Given the description of an element on the screen output the (x, y) to click on. 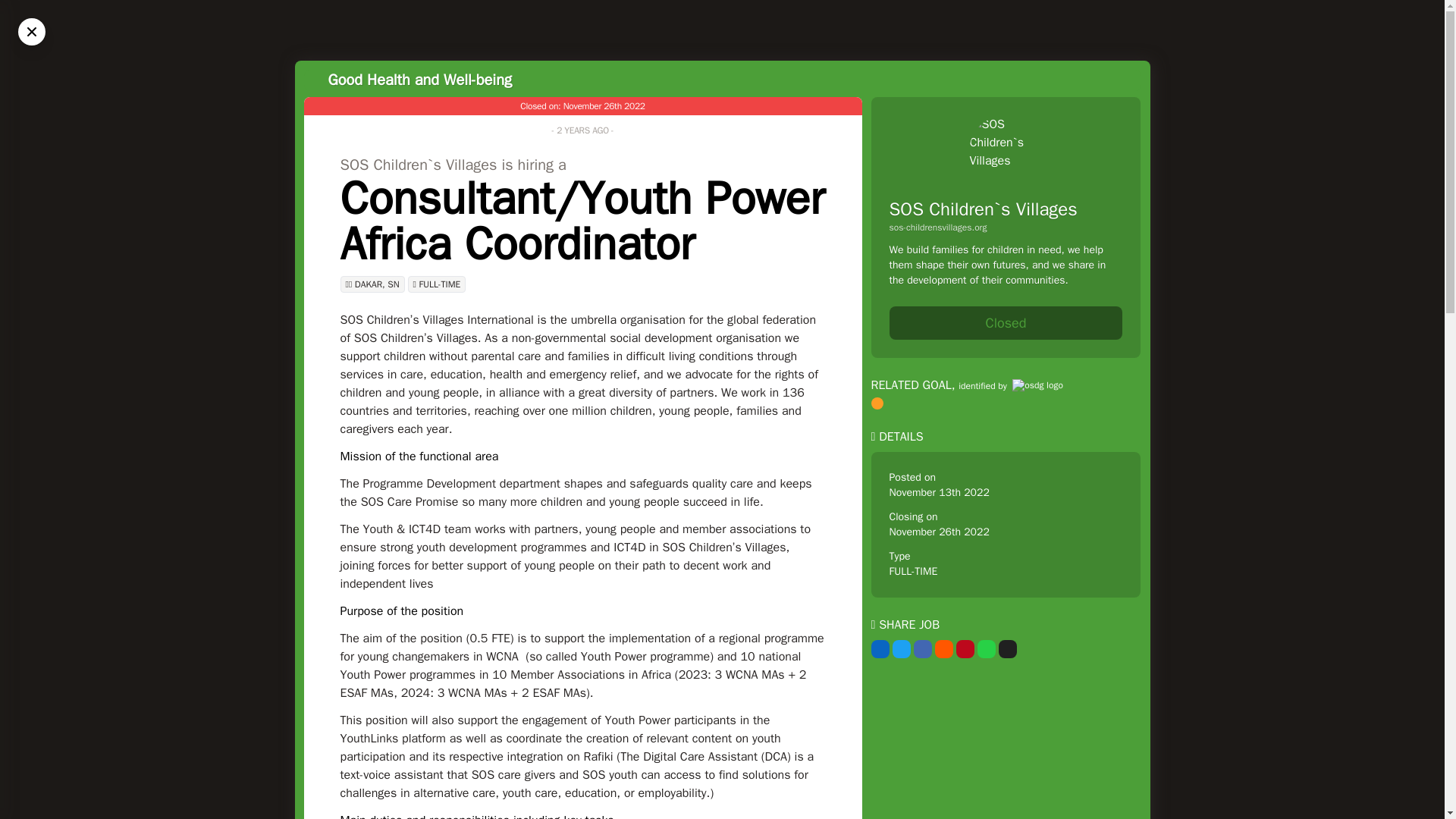
share with email (1006, 648)
share with whatsapp (985, 648)
share on linkedin (879, 648)
sos-childrensvillages.org (1005, 227)
share on facebook (921, 648)
Closed (1005, 322)
share on pinterest (964, 648)
Good Health and Well-being (419, 79)
share on reddit (943, 648)
Sustainable Cities and Communities sustainability jobs (876, 403)
share on twitter (900, 648)
